Given the description of an element on the screen output the (x, y) to click on. 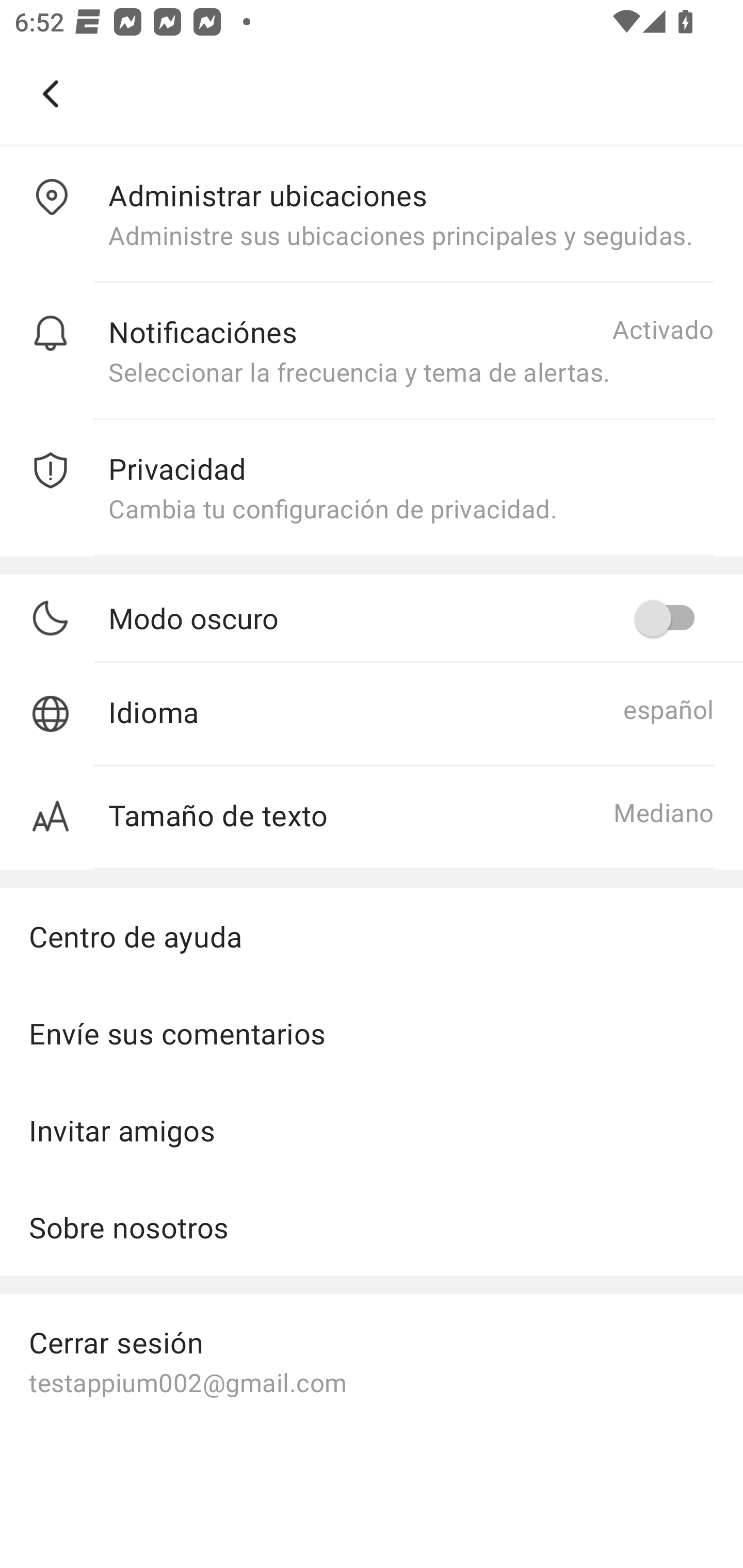
Navegar hacia arriba (50, 93)
Privacidad Cambia tu configuración de privacidad. (371, 488)
Modo oscuro (411, 617)
Idioma español (371, 714)
Tamaño de texto Mediano (371, 818)
Centro de ayuda (371, 935)
Envíe sus comentarios (371, 1032)
Invitar amigos (371, 1130)
Sobre nosotros (371, 1226)
Cerrar sesión testappium002@gmail.com (371, 1360)
